Given the description of an element on the screen output the (x, y) to click on. 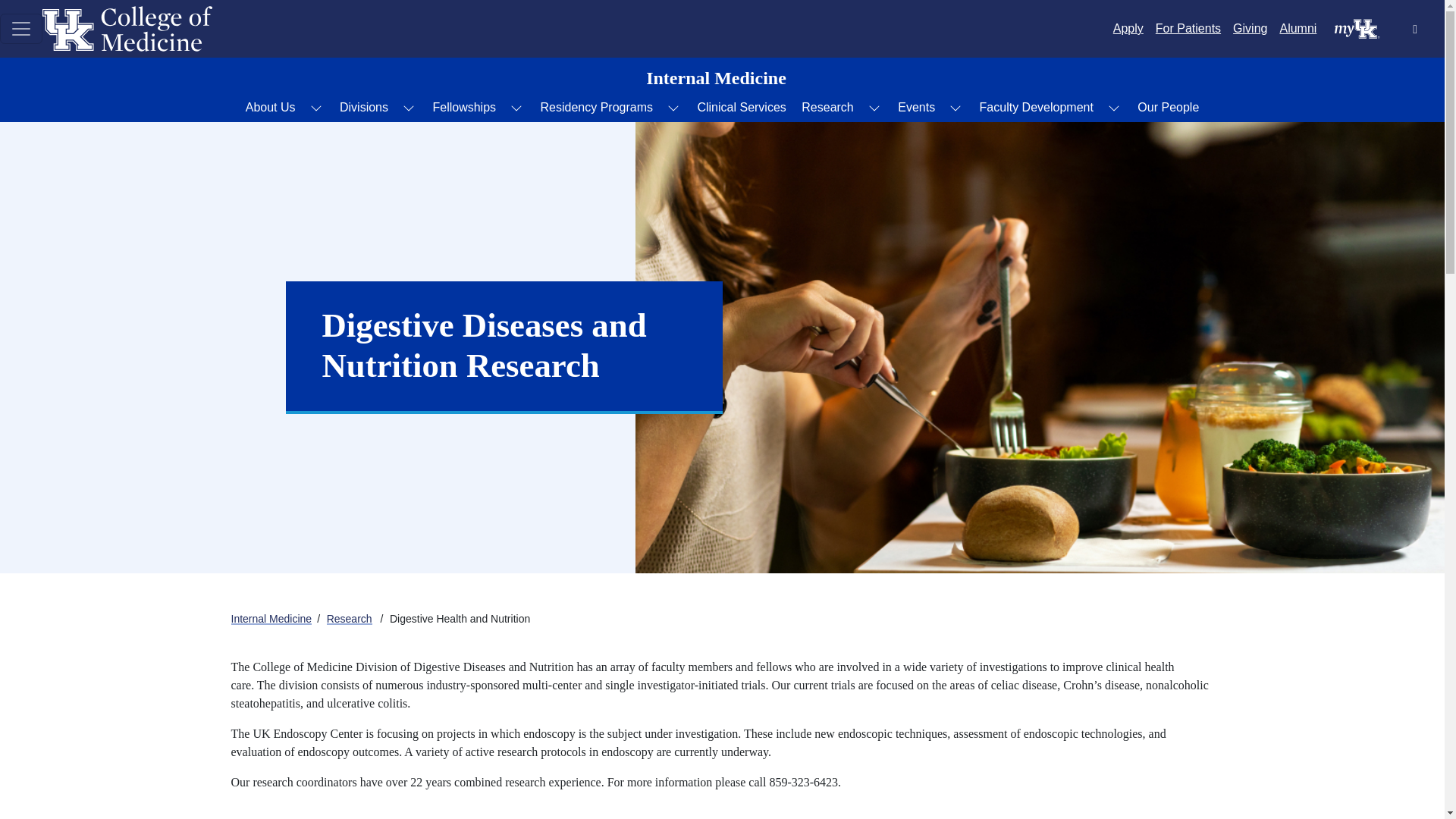
Divisions (363, 107)
Log into the myUK portal (1357, 27)
About Us (270, 107)
